Given the description of an element on the screen output the (x, y) to click on. 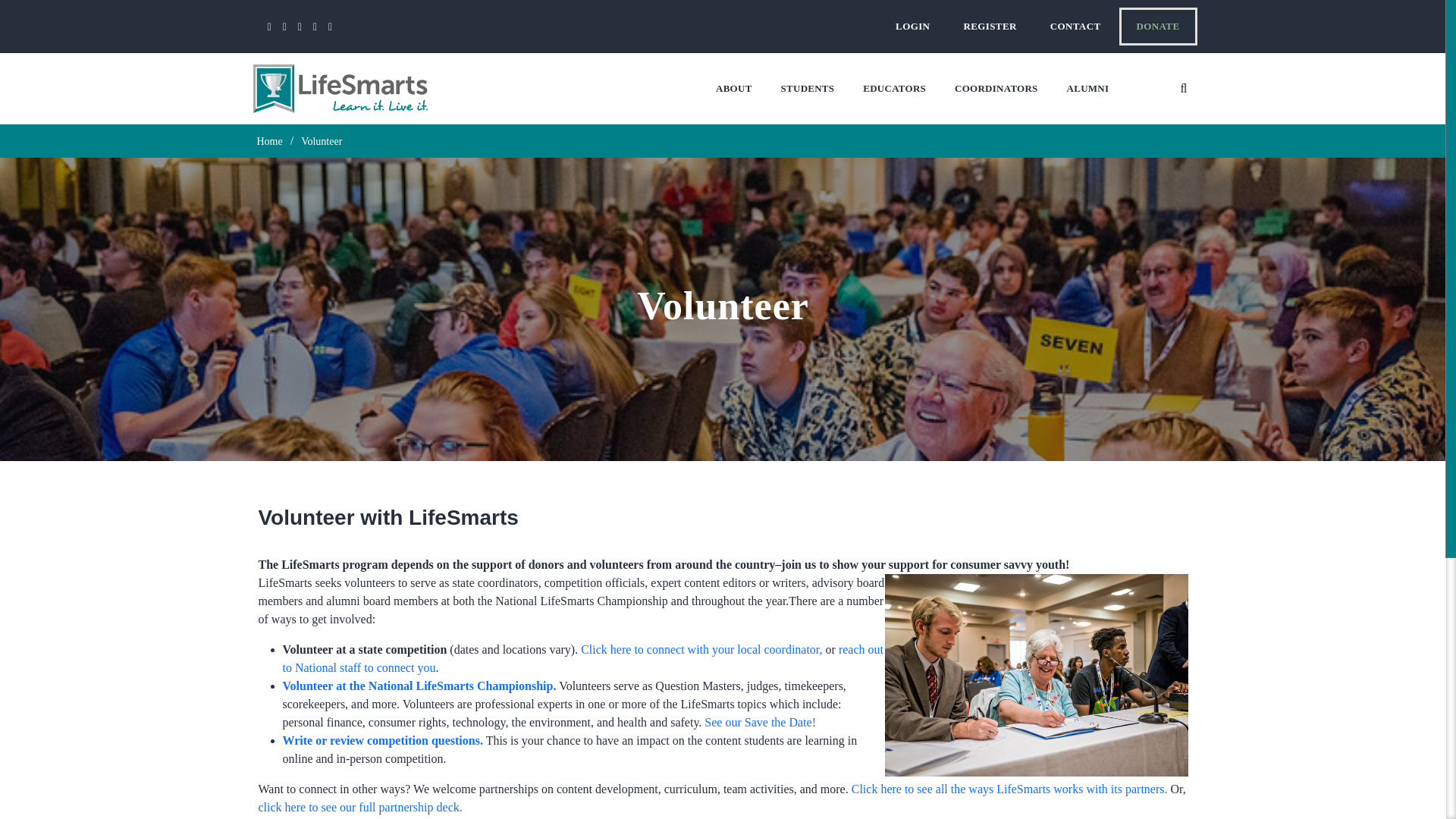
Click here to connect with your local coordinator, (701, 649)
Home (269, 141)
REGISTER (988, 26)
STUDENTS (807, 88)
COORDINATORS (995, 88)
LOGIN (912, 26)
EDUCATORS (893, 88)
Volunteer at the National LifeSmarts Championship. (419, 685)
Go to LifeSmarts. (269, 141)
click here to see our full partnership deck. (359, 807)
DONATE (1157, 26)
reach out to National staff to connect you (582, 658)
See our Save the Date! (759, 721)
CONTACT (1075, 26)
